Given the description of an element on the screen output the (x, y) to click on. 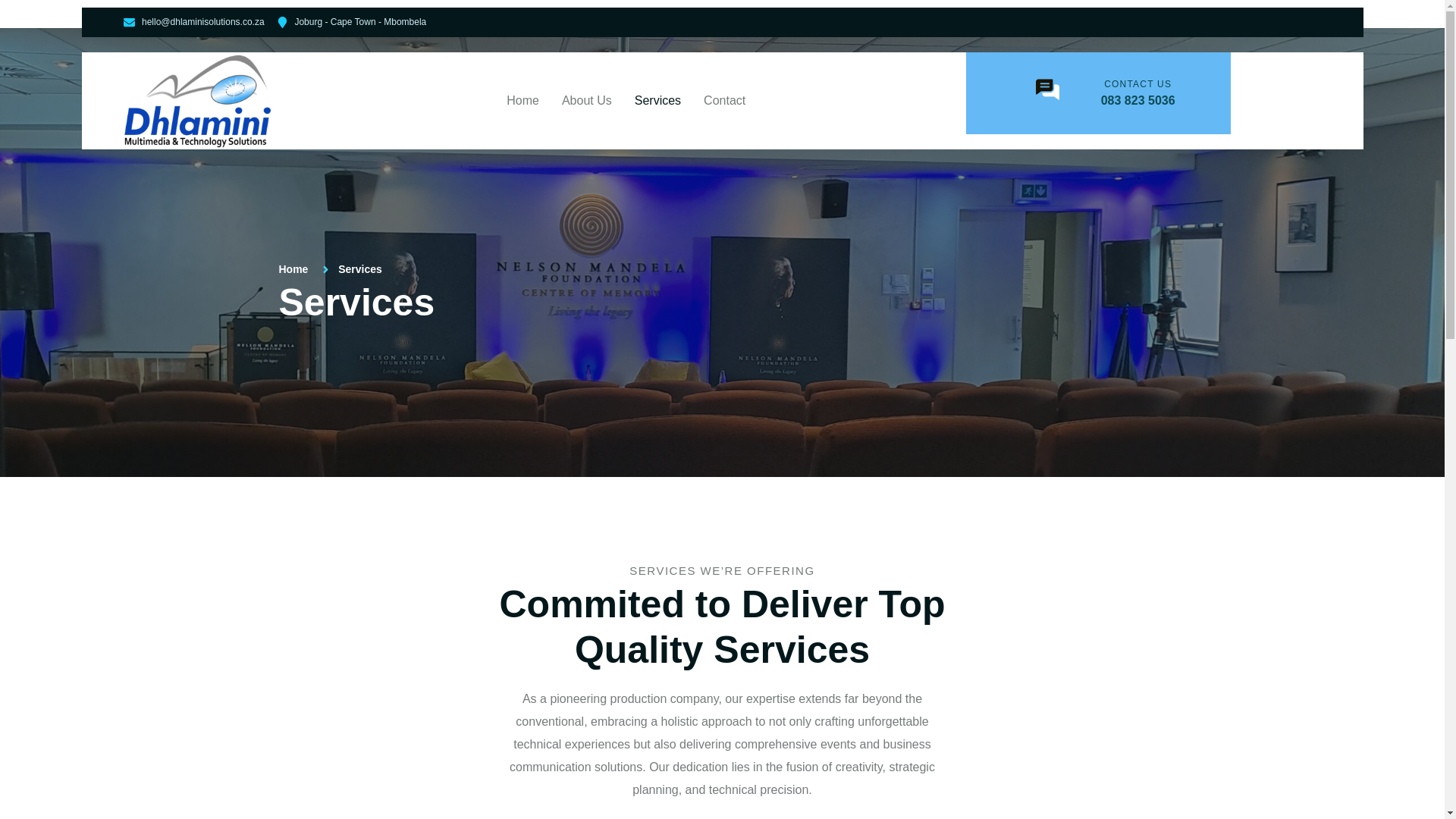
About Us (586, 100)
Home (528, 100)
Home (293, 269)
Services (658, 100)
Contact (719, 100)
